Given the description of an element on the screen output the (x, y) to click on. 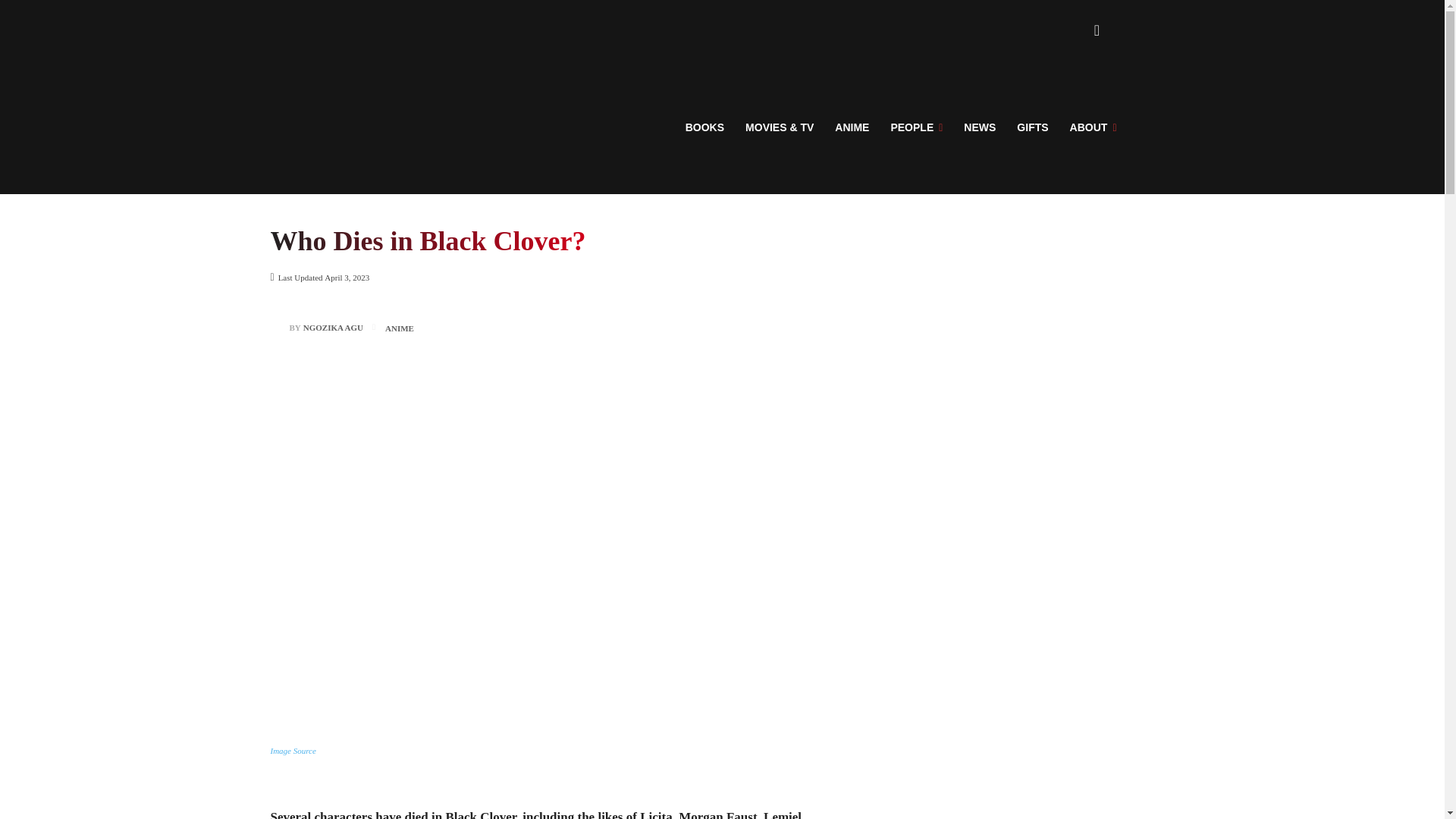
ABOUT (1092, 127)
ANIME (851, 127)
Ngozika Agu (278, 327)
PEOPLE (916, 127)
BOOKS (705, 127)
Image Source (292, 750)
ANIME (399, 328)
NGOZIKA AGU (332, 327)
